Given the description of an element on the screen output the (x, y) to click on. 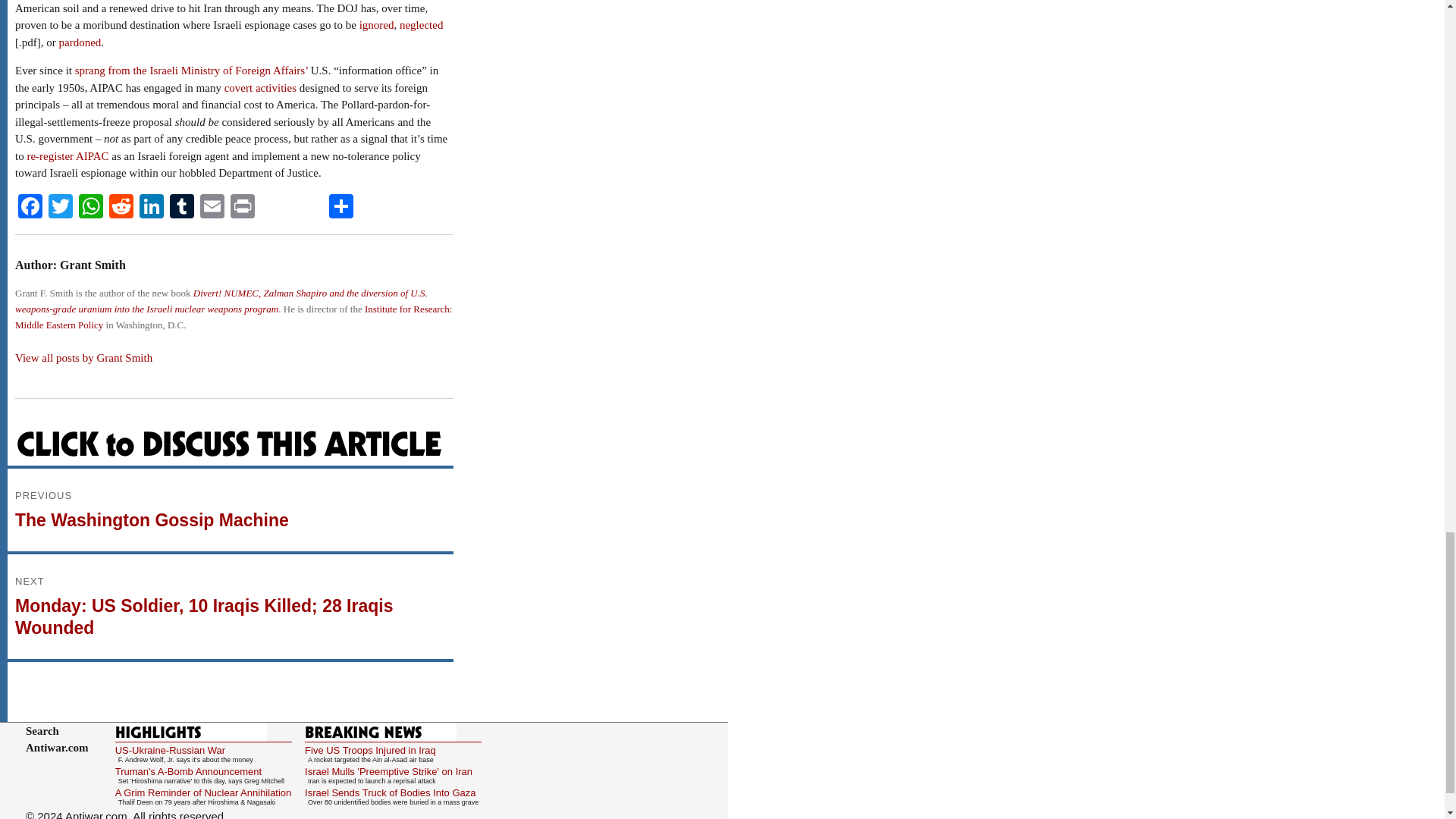
Email (211, 207)
Facebook (29, 207)
Print (242, 207)
Reddit (121, 207)
Tumblr (181, 207)
LinkedIn (151, 207)
WhatsApp (90, 207)
Twitter (60, 207)
